Given the description of an element on the screen output the (x, y) to click on. 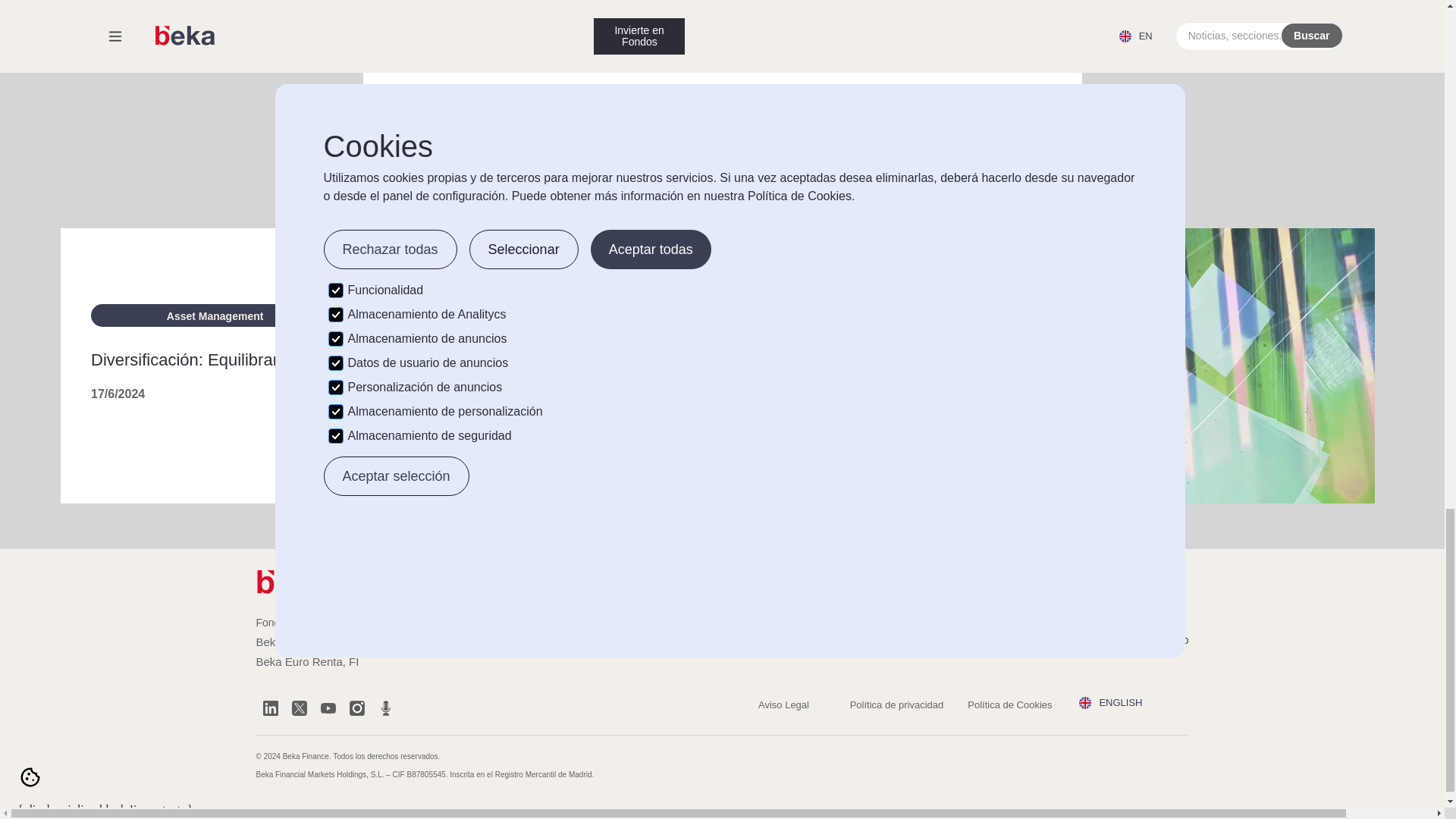
Buscar (923, 580)
Buscar (923, 580)
